Given the description of an element on the screen output the (x, y) to click on. 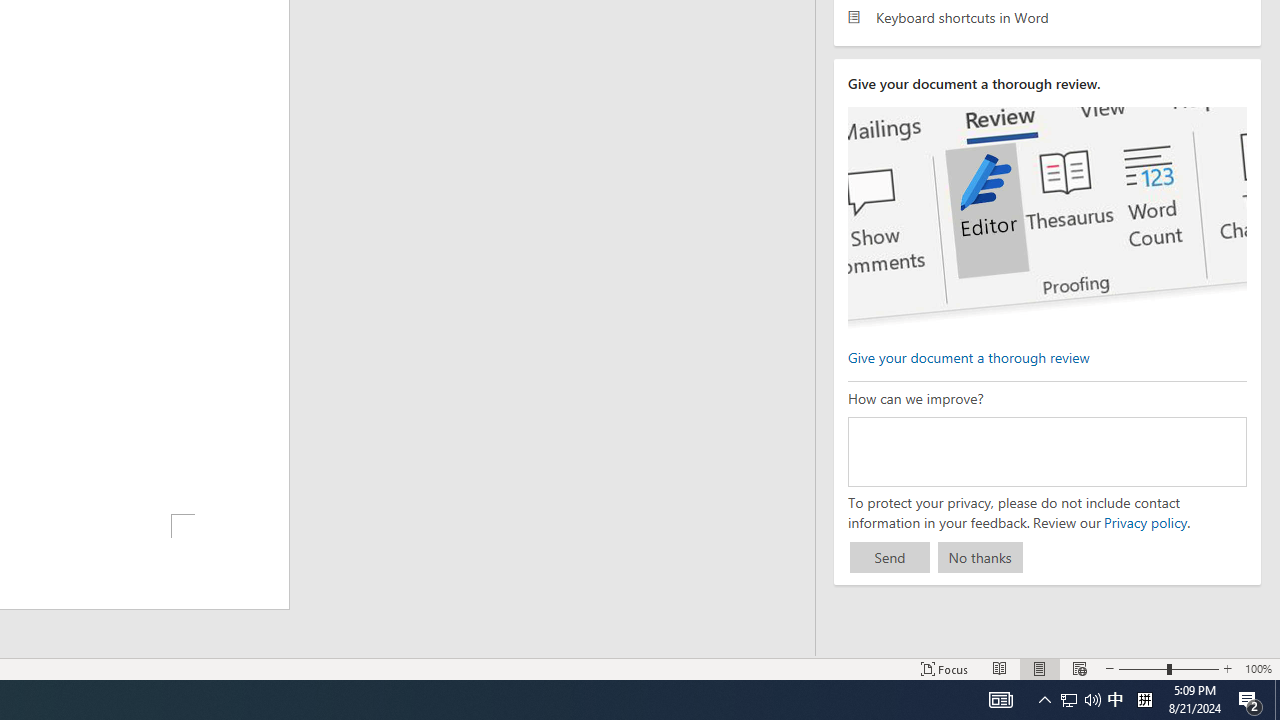
Focus  (944, 668)
Keyboard shortcuts in Word (1047, 16)
Privacy policy (1144, 522)
Web Layout (1079, 668)
How can we improve? (1046, 451)
Print Layout (1039, 668)
Give your document a thorough review (968, 356)
Read Mode (1000, 668)
Zoom In (1227, 668)
No thanks (980, 557)
Zoom Out (1142, 668)
Zoom (1168, 668)
Zoom 100% (1258, 668)
Send (889, 557)
editor ui screenshot (1046, 218)
